Given the description of an element on the screen output the (x, y) to click on. 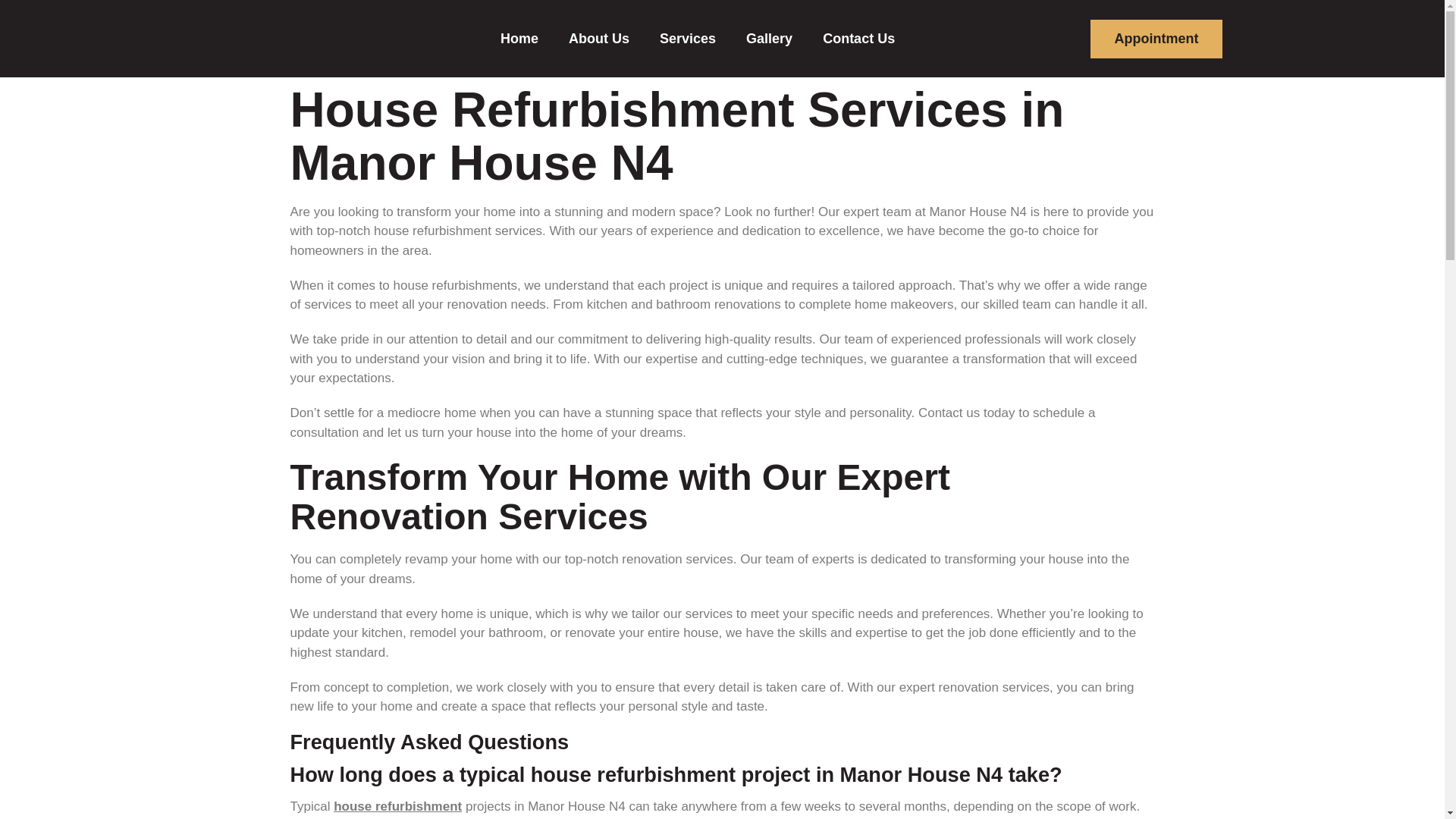
Appointment (1156, 38)
Home (519, 38)
Services (687, 38)
house refurbishment (397, 806)
Contact Us (858, 38)
house refurbishment (397, 806)
About Us (598, 38)
Gallery (768, 38)
